Given the description of an element on the screen output the (x, y) to click on. 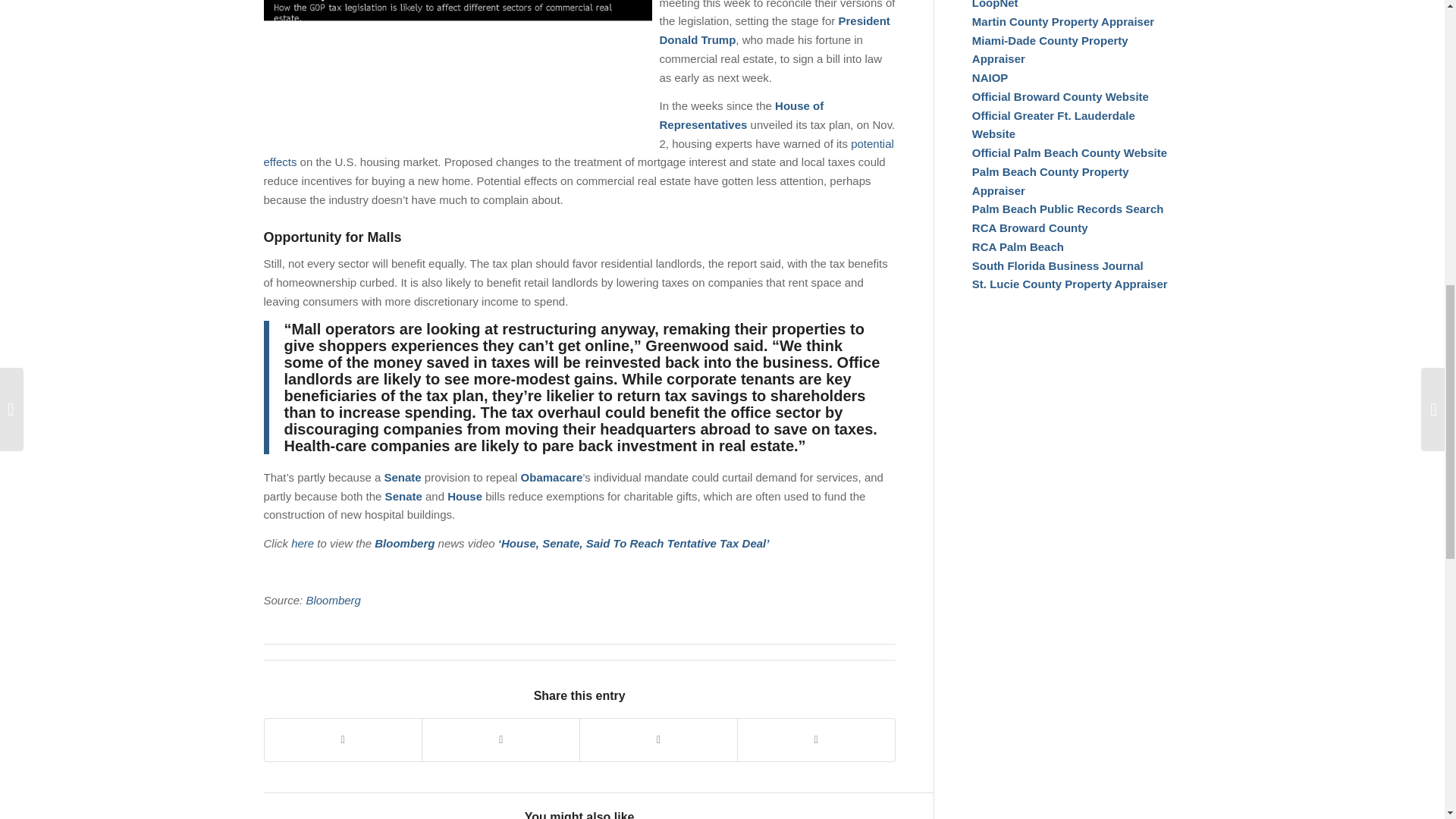
here (302, 543)
Bloomberg (333, 599)
potential effects (578, 152)
